Given the description of an element on the screen output the (x, y) to click on. 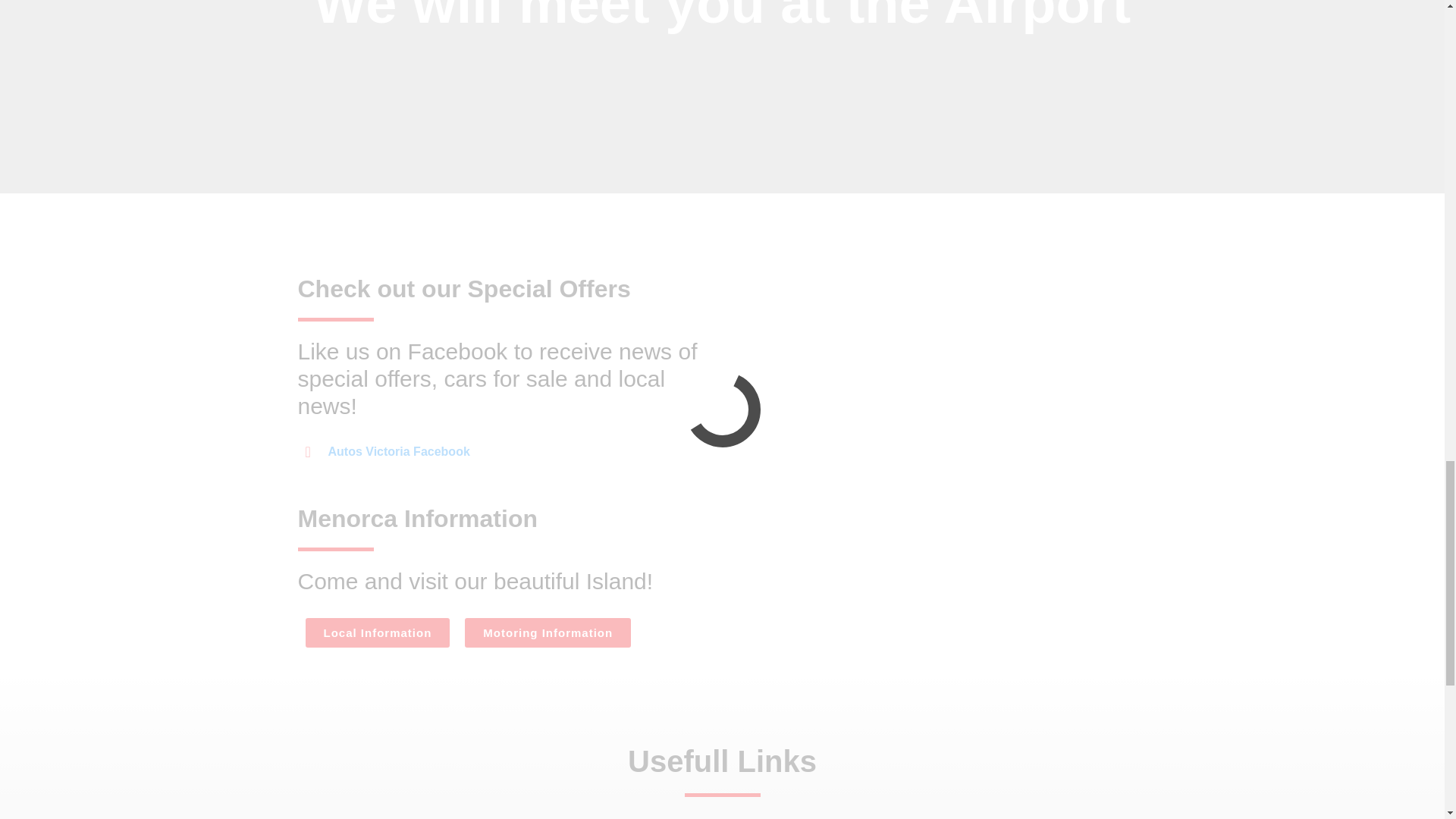
Motoring Information (547, 632)
Autos Victoria Facebook (386, 452)
Local Information (376, 632)
